Given the description of an element on the screen output the (x, y) to click on. 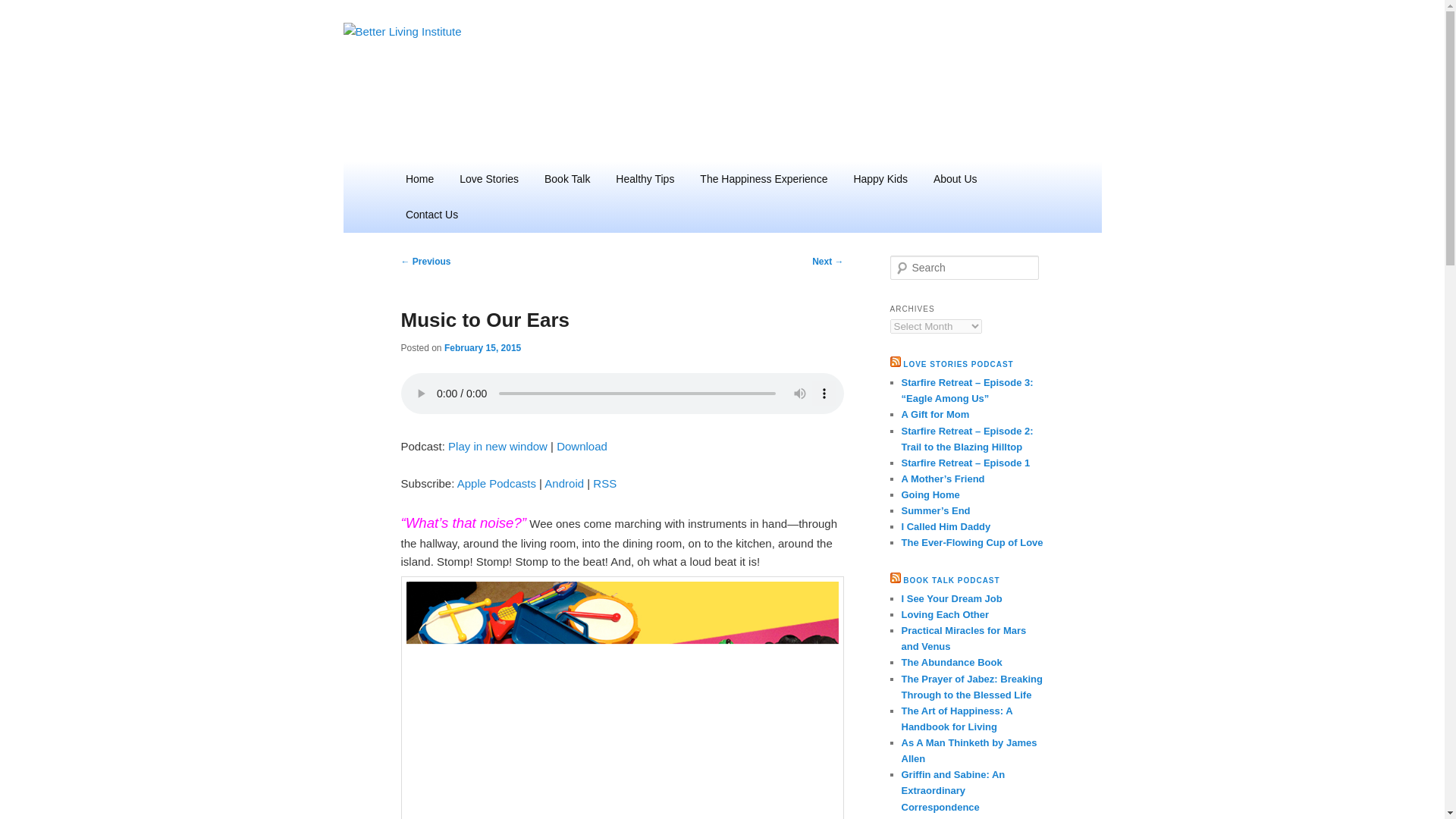
Contact Us (431, 214)
Subscribe on Android (563, 482)
Going Home (930, 494)
Healthy Tips (644, 179)
Play in new window (497, 445)
I Called Him Daddy (945, 526)
Play in new window (497, 445)
RSS (603, 482)
The Happiness Experience (763, 179)
Subscribe via RSS (603, 482)
9:21 PM (482, 347)
Subscribe on Apple Podcasts (496, 482)
About Us (955, 179)
February 15, 2015 (482, 347)
Android (563, 482)
